Given the description of an element on the screen output the (x, y) to click on. 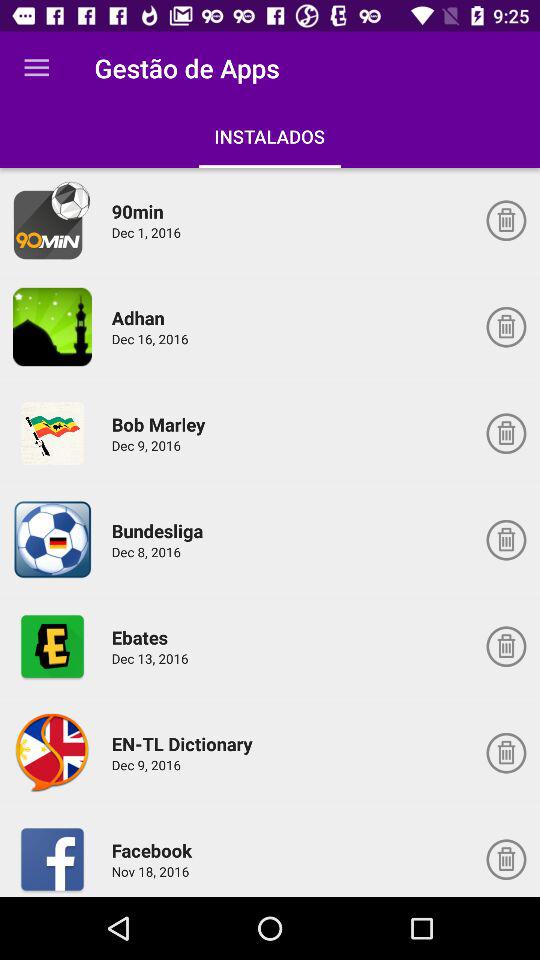
app icon (52, 646)
